Given the description of an element on the screen output the (x, y) to click on. 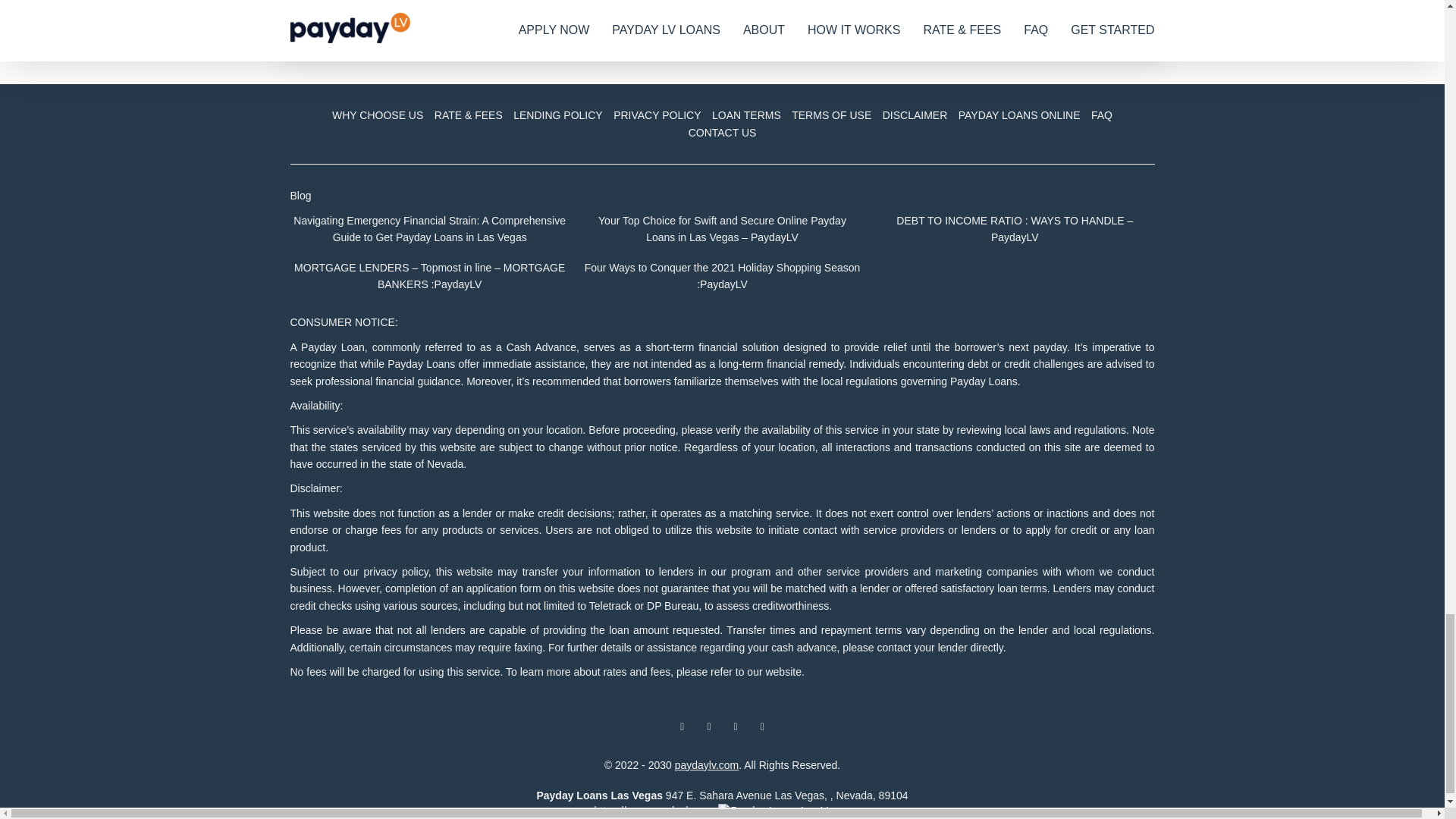
FAQ (1101, 114)
PAYDAY LOANS ONLINE (1019, 114)
LENDING POLICY (557, 114)
TERMS OF USE (831, 114)
DISCLAIMER (915, 114)
Payday Loans Las Vegas (598, 795)
PRIVACY POLICY (657, 114)
CONTACT US (722, 132)
WHY CHOOSE US (377, 114)
